Given the description of an element on the screen output the (x, y) to click on. 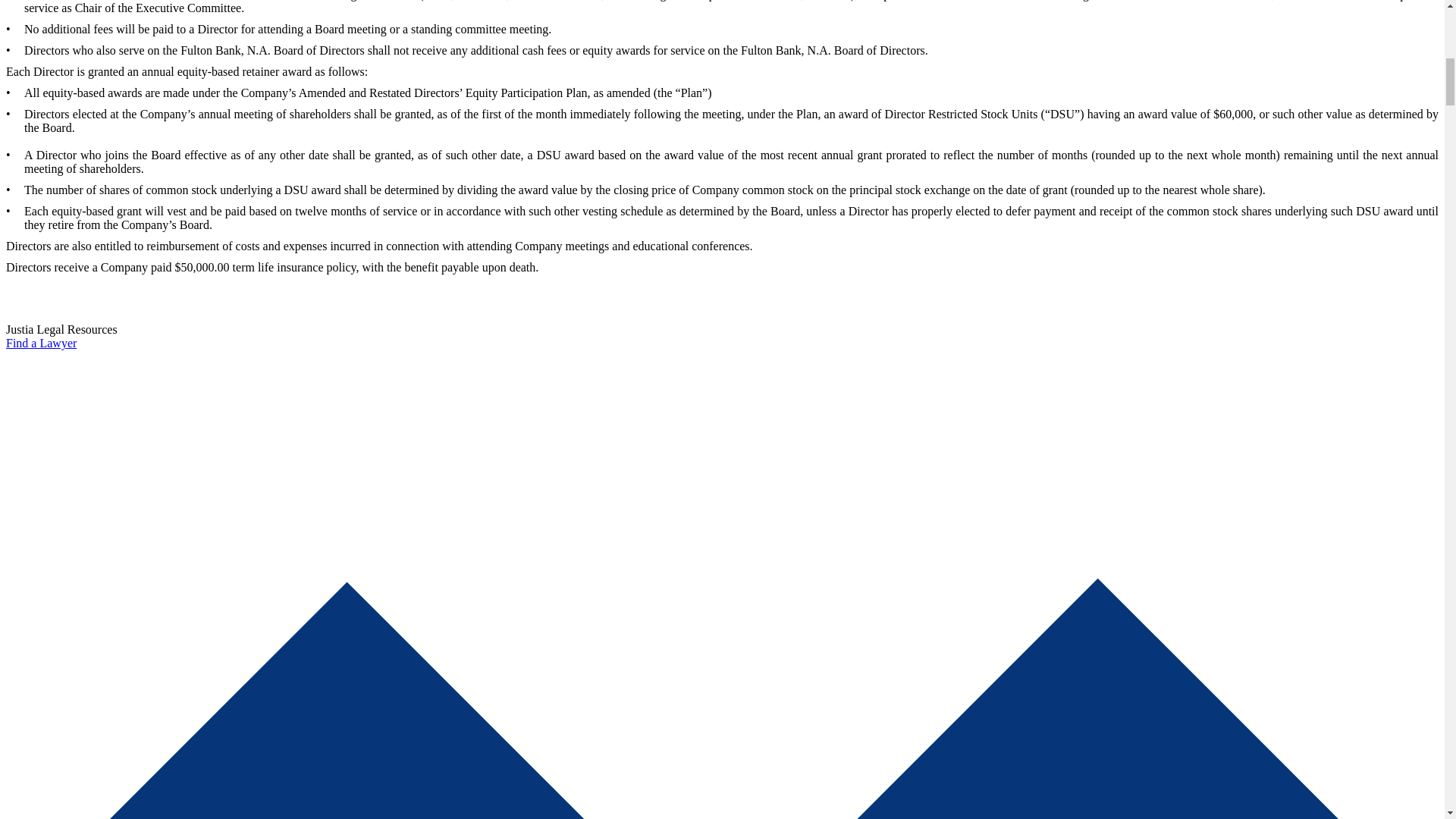
Find a Lawyer (41, 342)
